Given the description of an element on the screen output the (x, y) to click on. 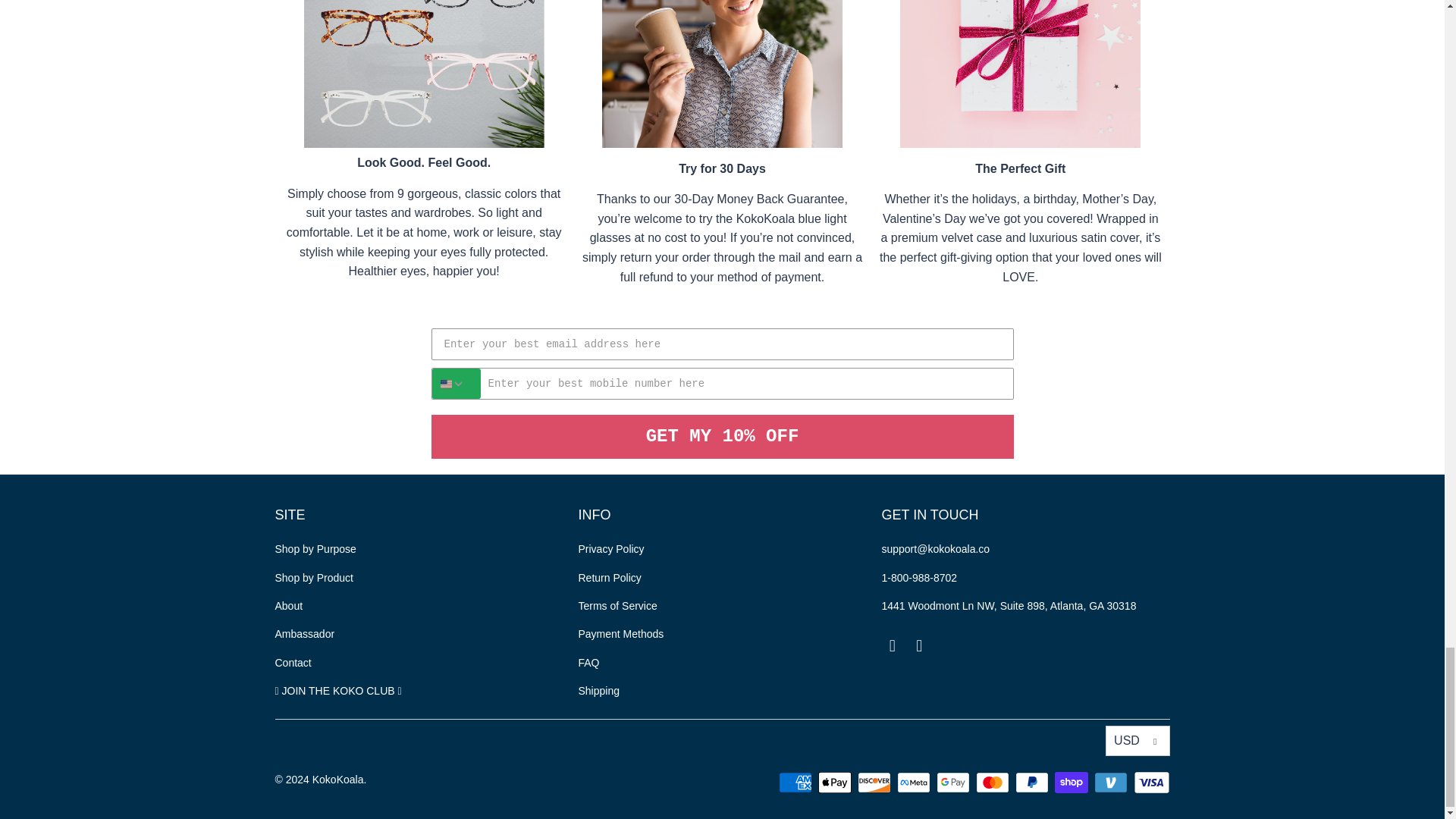
Visa (1150, 782)
Shop Pay (1072, 782)
Discover (875, 782)
Meta Pay (914, 782)
American Express (796, 782)
Venmo (1112, 782)
KokoKoala on Facebook (892, 646)
Google Pay (954, 782)
KokoKoala on Instagram (919, 646)
United States (445, 383)
Mastercard (993, 782)
PayPal (1032, 782)
Apple Pay (836, 782)
